Given the description of an element on the screen output the (x, y) to click on. 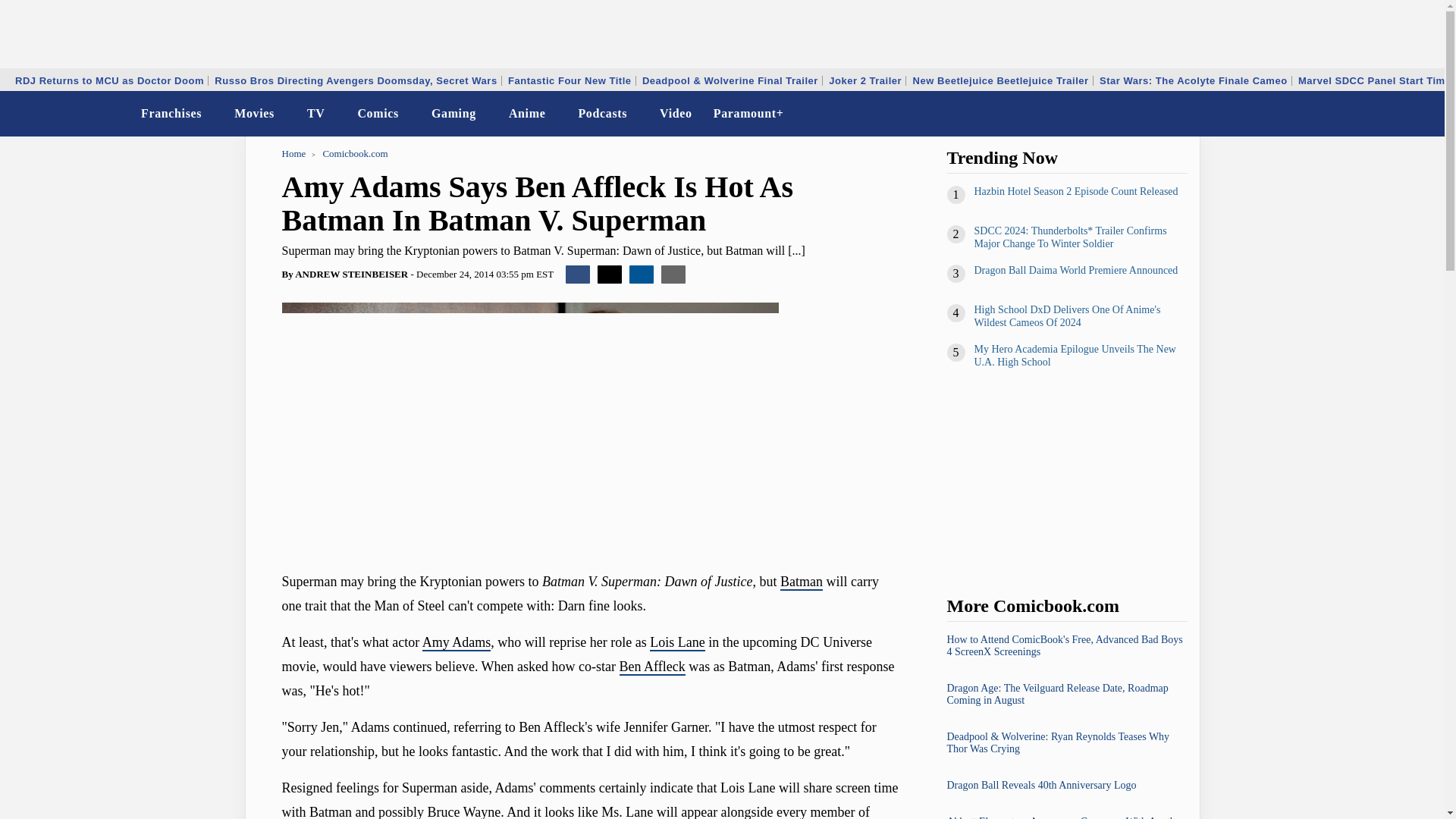
amy-adams-lois-lane (530, 429)
Russo Bros Directing Avengers Doomsday, Secret Wars (355, 80)
Dark Mode (1394, 113)
Search (1422, 114)
Movies (254, 113)
Joker 2 Trailer (865, 80)
Star Wars: The Acolyte Finale Cameo (1193, 80)
New Beetlejuice Beetlejuice Trailer (1000, 80)
RDJ Returns to MCU as Doctor Doom (109, 80)
Fantastic Four New Title (568, 80)
